Given the description of an element on the screen output the (x, y) to click on. 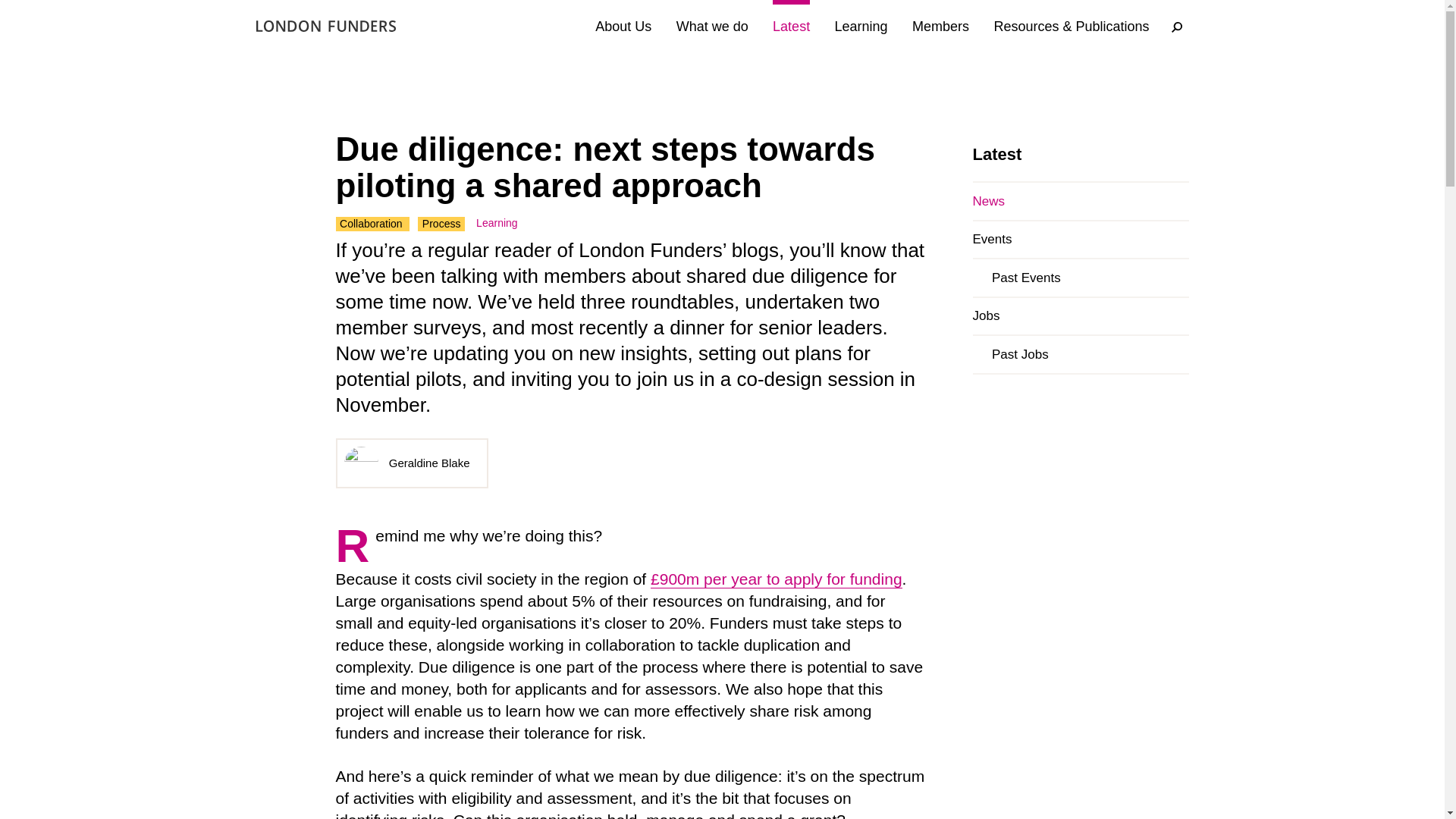
What we do (712, 27)
About Us (622, 27)
Home (326, 26)
